Given the description of an element on the screen output the (x, y) to click on. 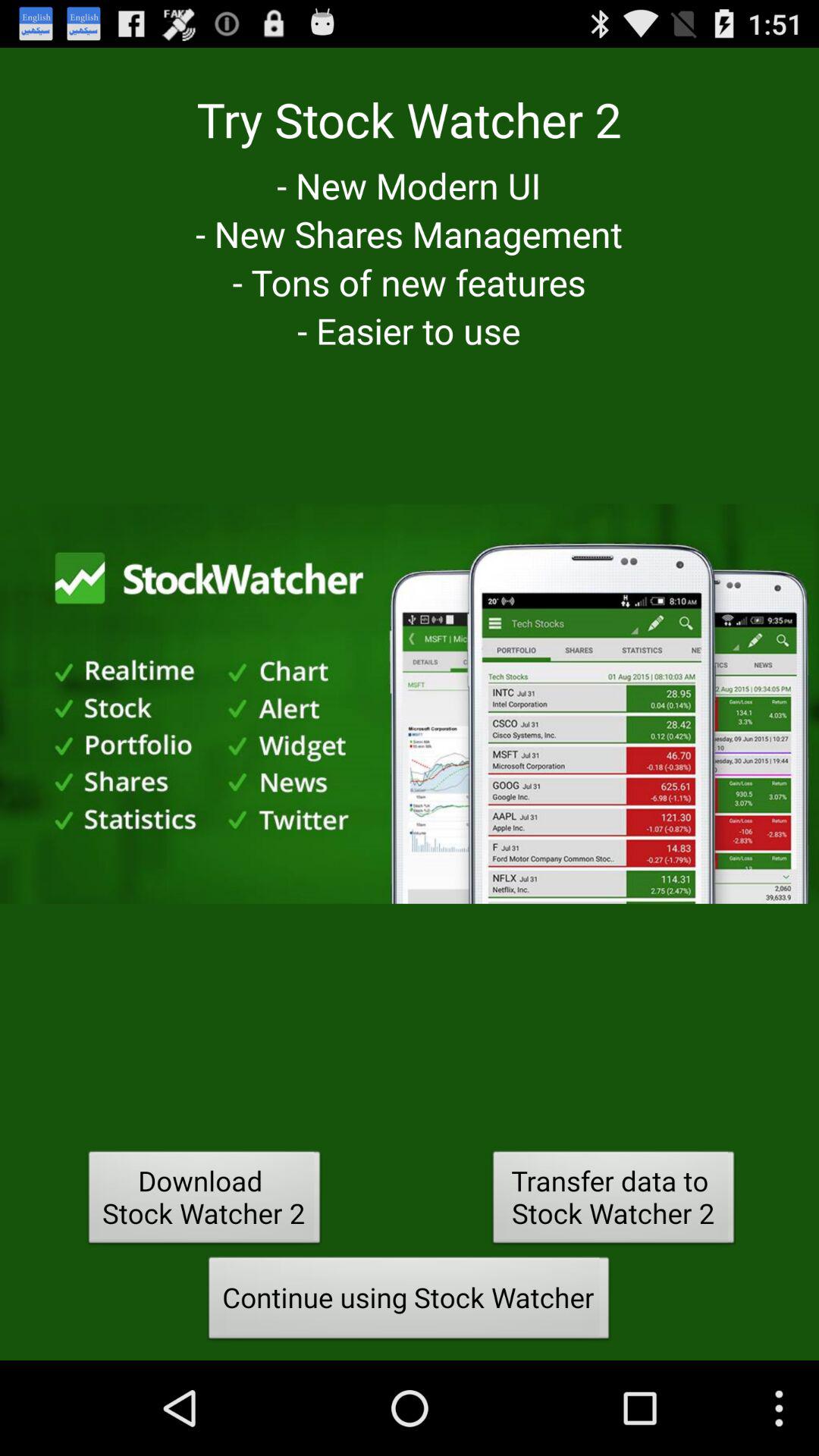
turn on button below download stock watcher icon (409, 1302)
